Given the description of an element on the screen output the (x, y) to click on. 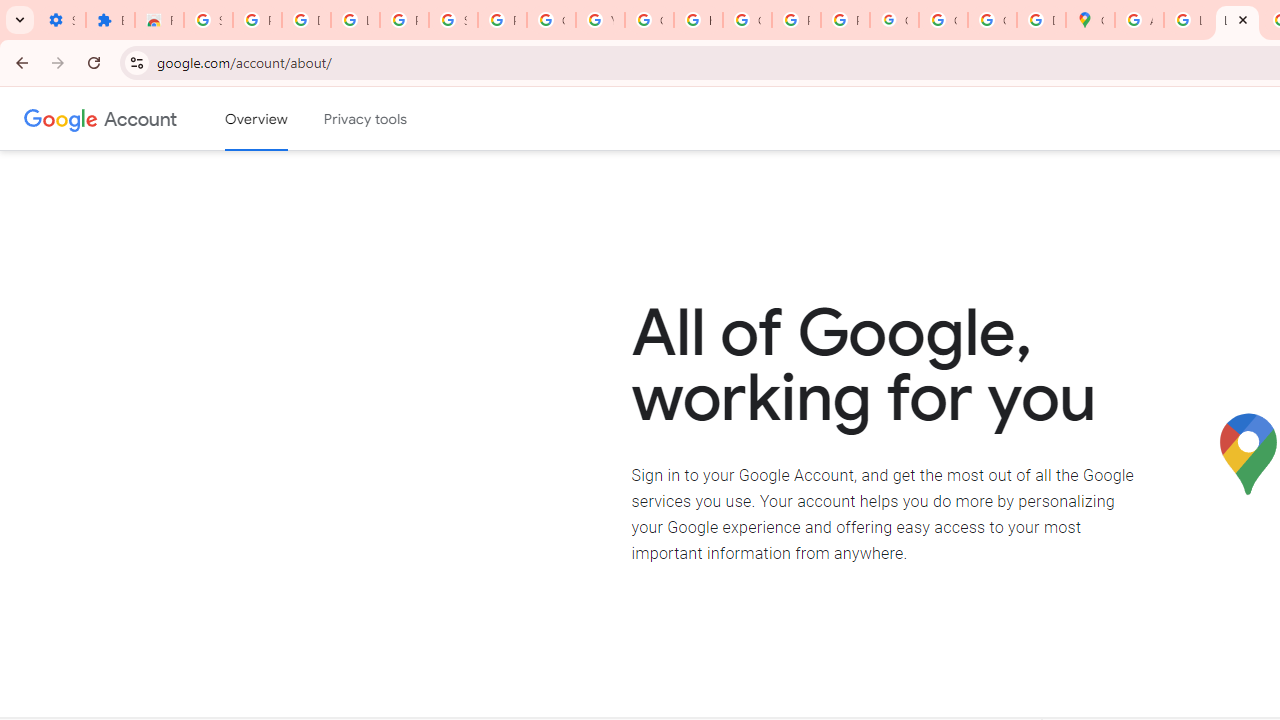
Sign in - Google Accounts (452, 20)
Privacy tools (365, 119)
Delete photos & videos - Computer - Google Photos Help (306, 20)
Skip to Content (285, 115)
Settings - On startup (61, 20)
Google Account overview (256, 119)
Google Account (551, 20)
